Given the description of an element on the screen output the (x, y) to click on. 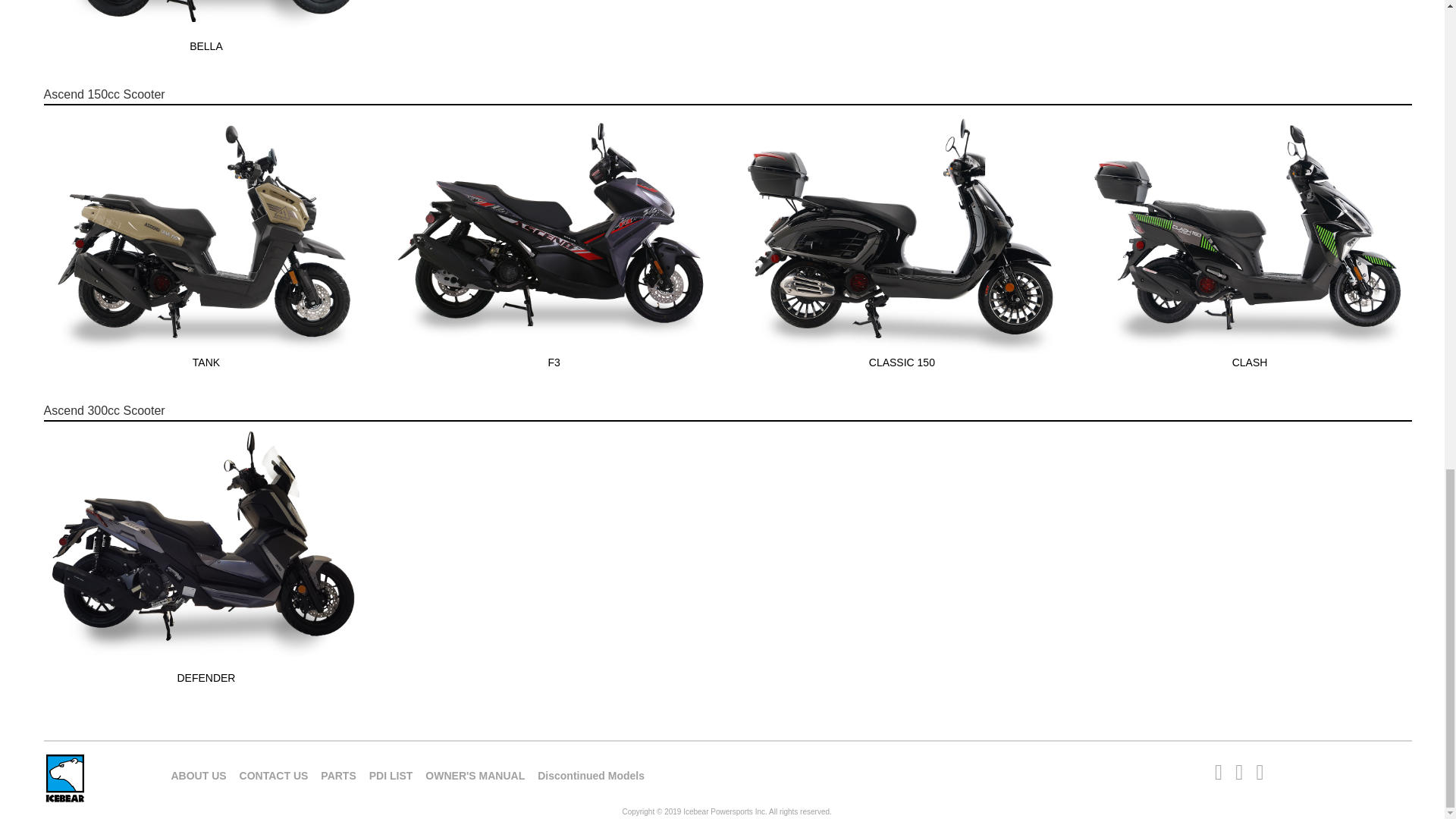
CONTACT US (280, 771)
PDI LIST (397, 771)
PARTS (343, 771)
CLASH (1249, 361)
ABOUT US (203, 771)
DEFENDER (206, 678)
Discontinued Models (596, 771)
CLASSIC 150 (901, 361)
OWNER'S MANUAL (480, 771)
BELLA (206, 45)
TANK (206, 361)
F3 (553, 361)
